Given the description of an element on the screen output the (x, y) to click on. 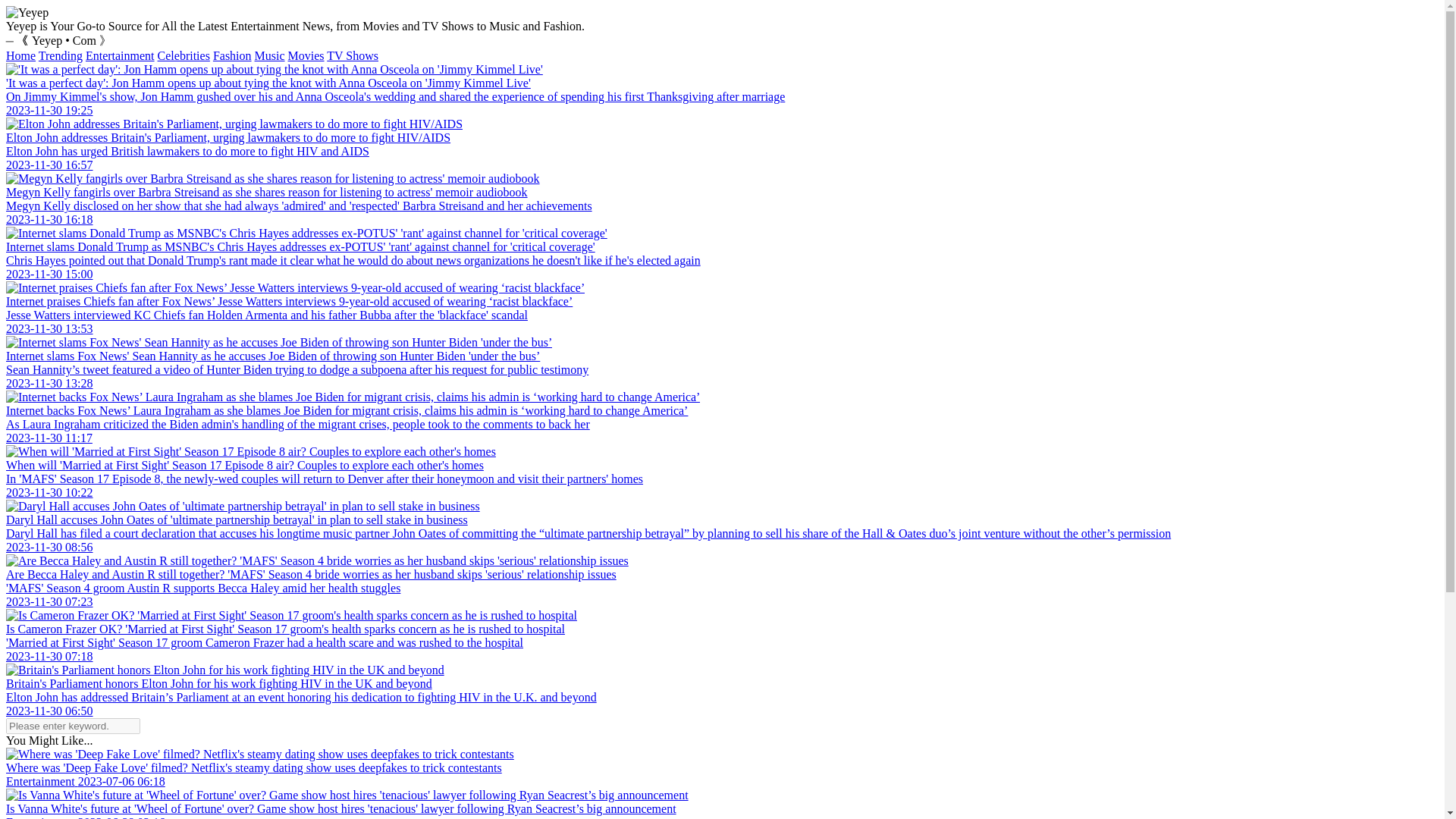
Celebrities (183, 55)
Movies (306, 55)
TV Shows (352, 55)
Entertainment (119, 55)
Trending (60, 55)
Fashion (231, 55)
Home (19, 55)
Music (269, 55)
